Given the description of an element on the screen output the (x, y) to click on. 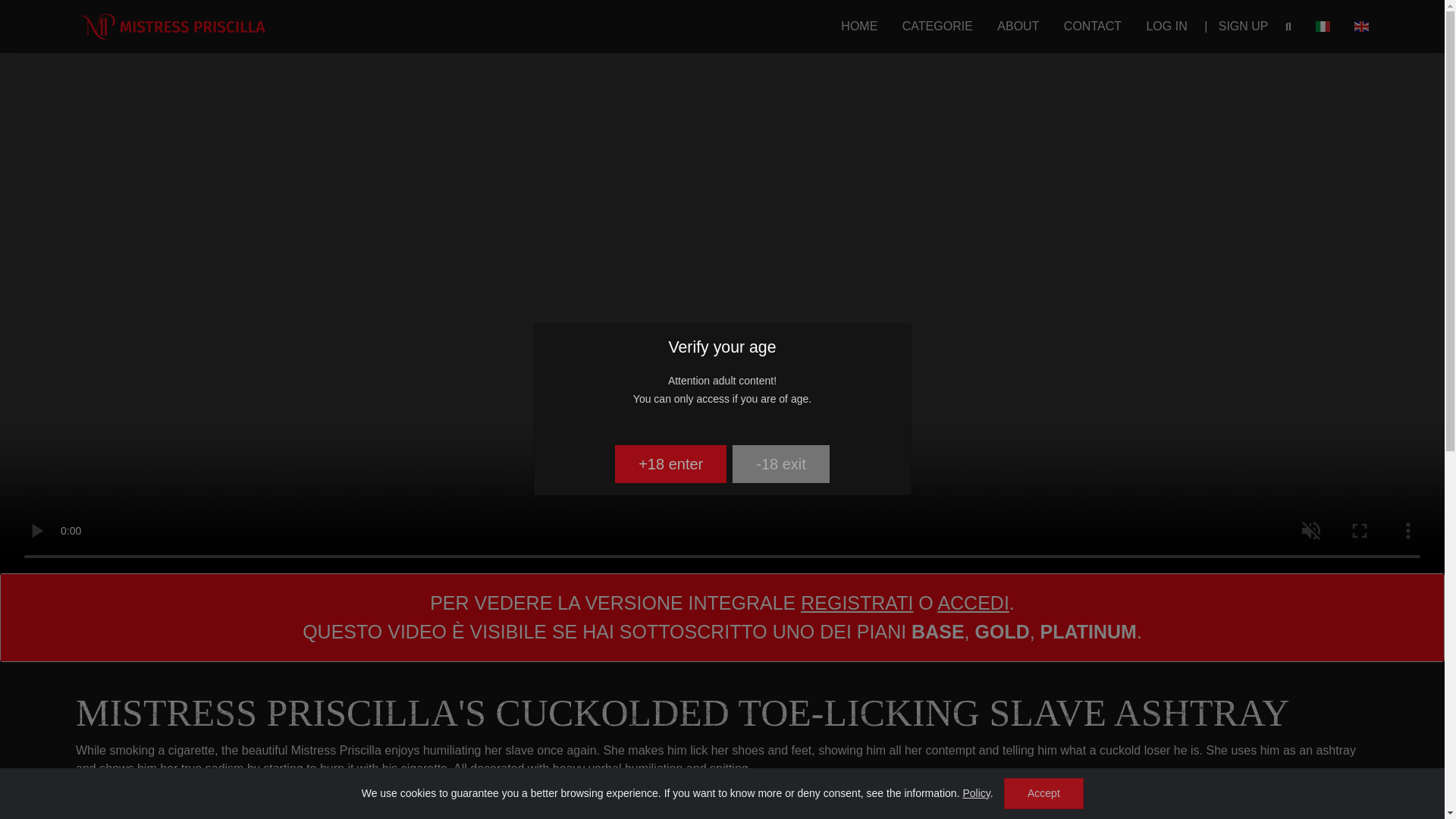
HOME (854, 25)
CONTACT (1089, 25)
ACCEDI (973, 602)
CATEGORIE (933, 25)
Categorie (933, 25)
English (1357, 25)
REGISTRATI (856, 602)
Policy (976, 793)
Home (854, 25)
LOG IN (1162, 25)
Italiano (1318, 25)
SIGN UP (1239, 25)
ABOUT (1014, 25)
